Given the description of an element on the screen output the (x, y) to click on. 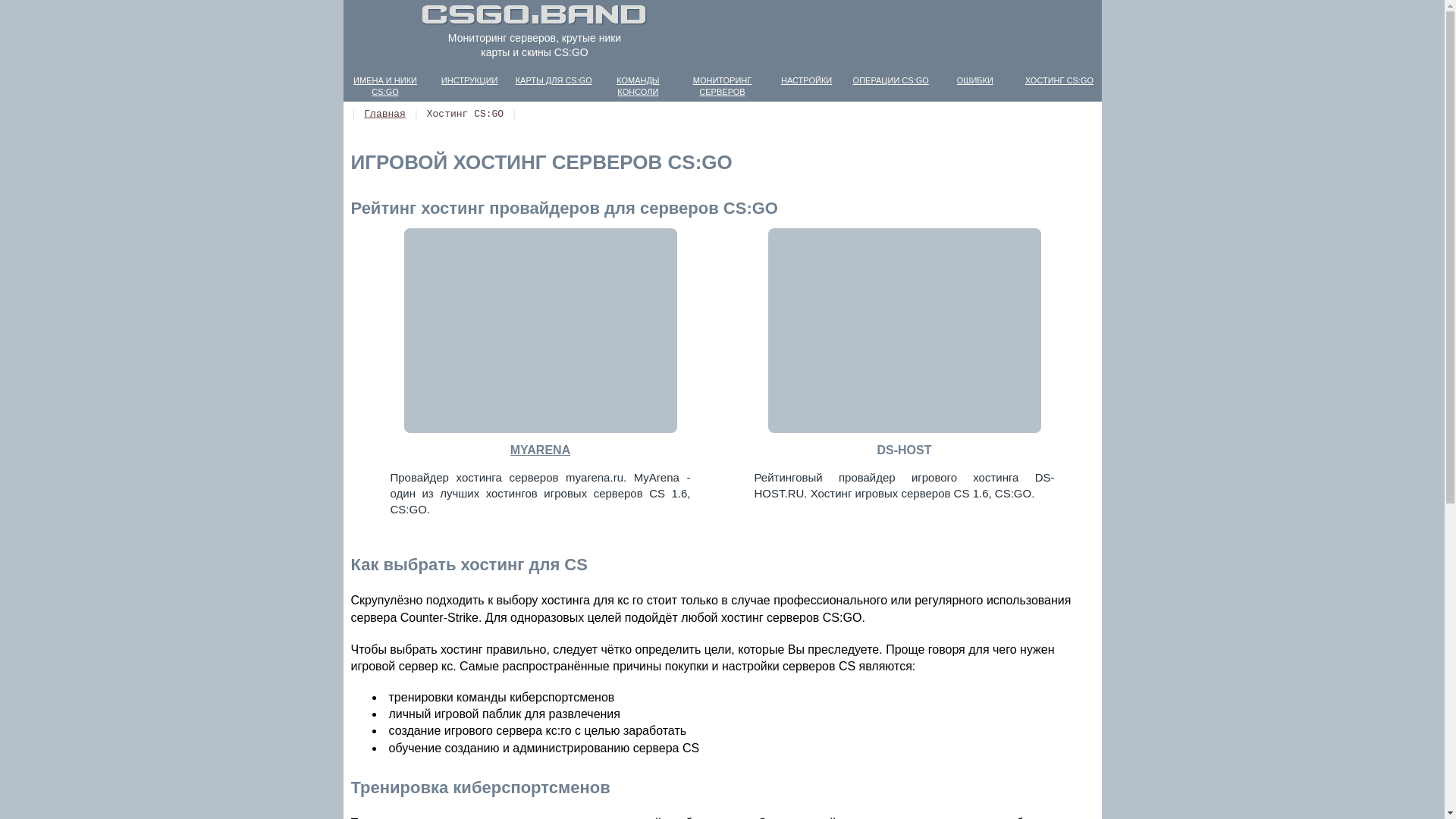
MYARENA Element type: text (539, 447)
